Given the description of an element on the screen output the (x, y) to click on. 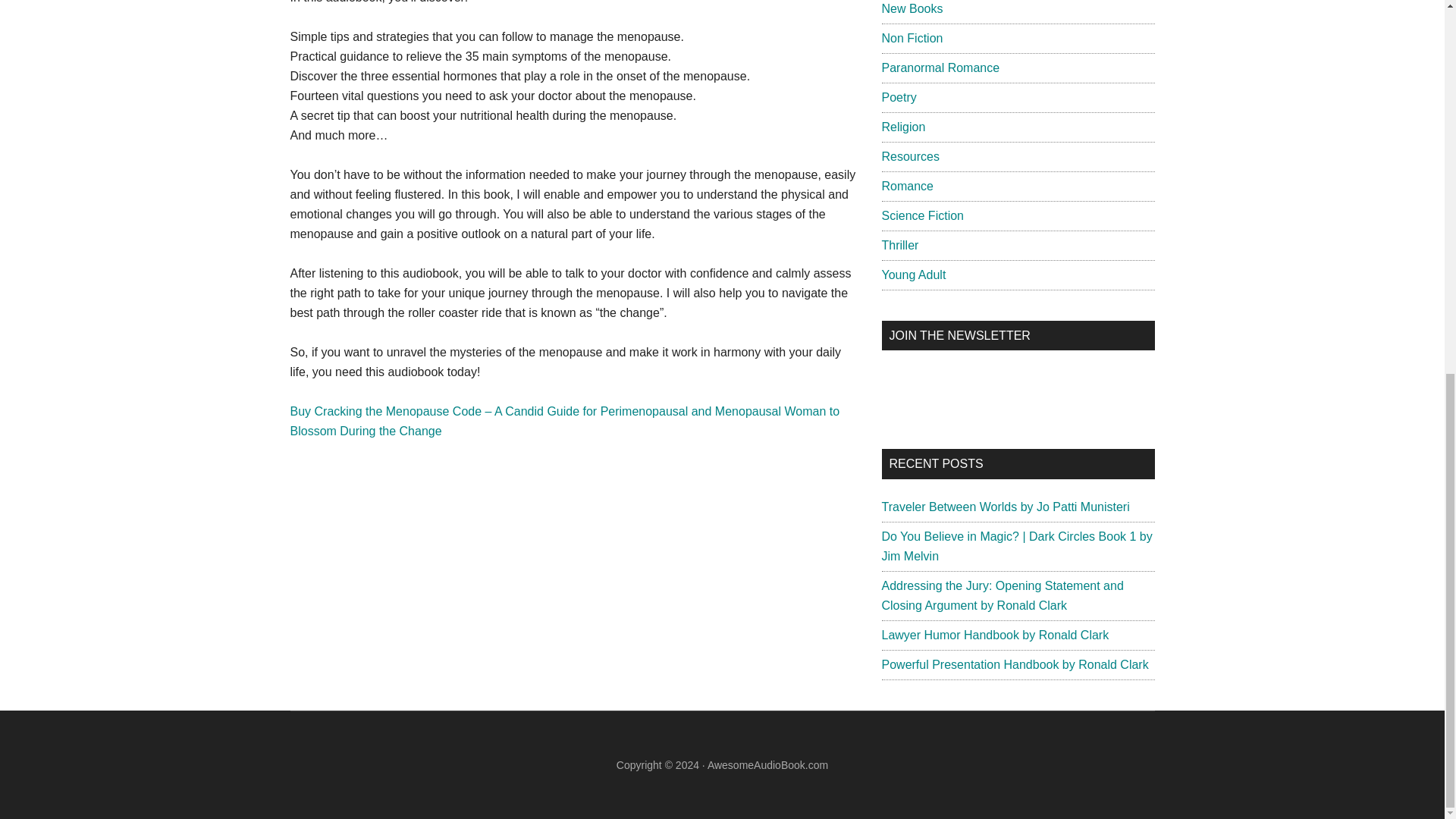
Resources (909, 155)
Romance (906, 185)
Religion (902, 126)
Poetry (897, 97)
Paranormal Romance (939, 67)
New Books (911, 8)
Non Fiction (911, 38)
